Given the description of an element on the screen output the (x, y) to click on. 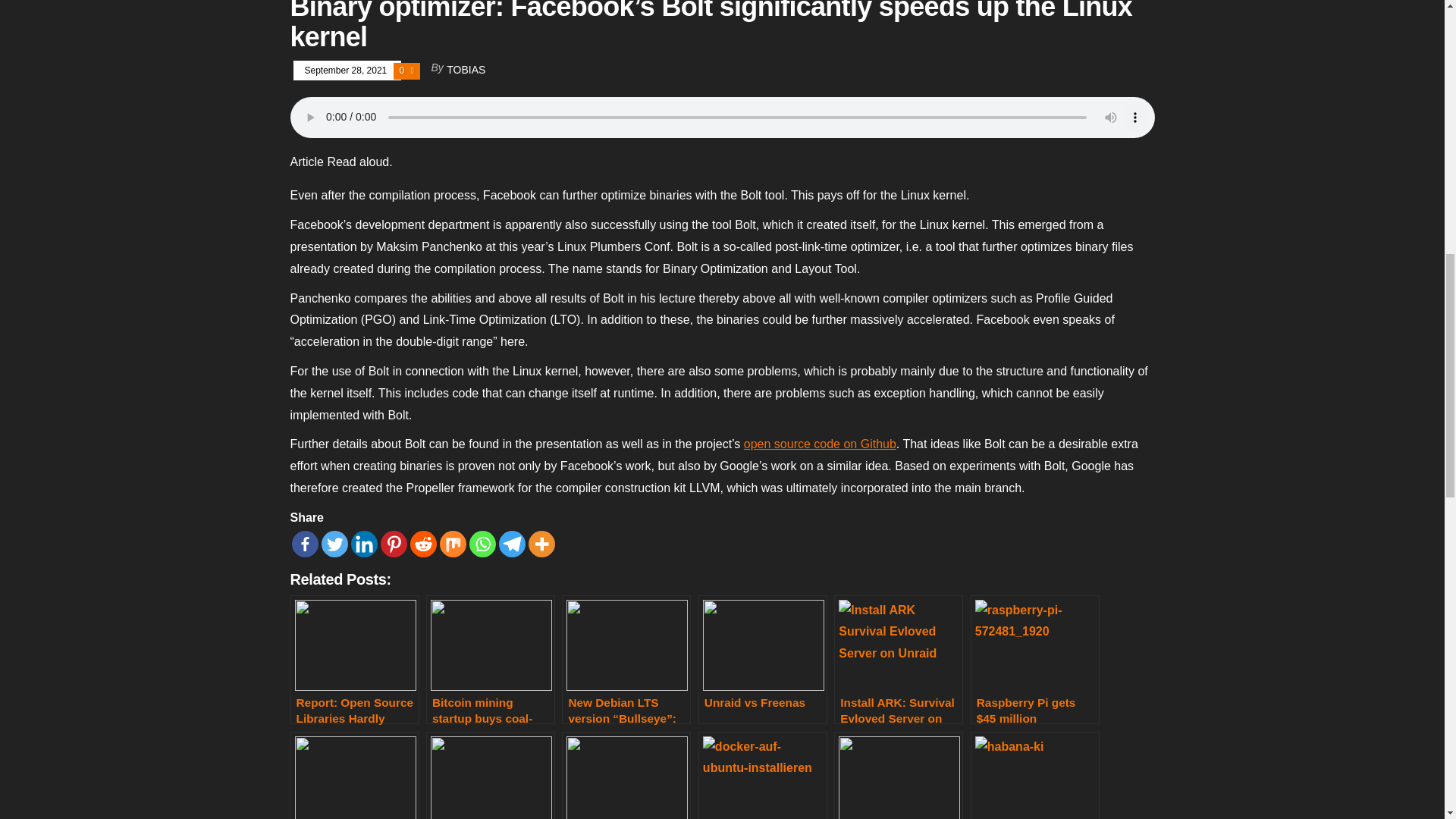
Report: Open Source Libraries Hardly Updated in Companies (354, 659)
Facebook (304, 543)
Twitter (334, 543)
Linux Facts and figures (490, 775)
Install ARK: Survival Evloved Server on Unraid (898, 659)
Unraid vs Freenas (762, 659)
Linkedin (363, 543)
open source code on Github (820, 443)
Install Unraid (354, 775)
Reddit (422, 543)
